Given the description of an element on the screen output the (x, y) to click on. 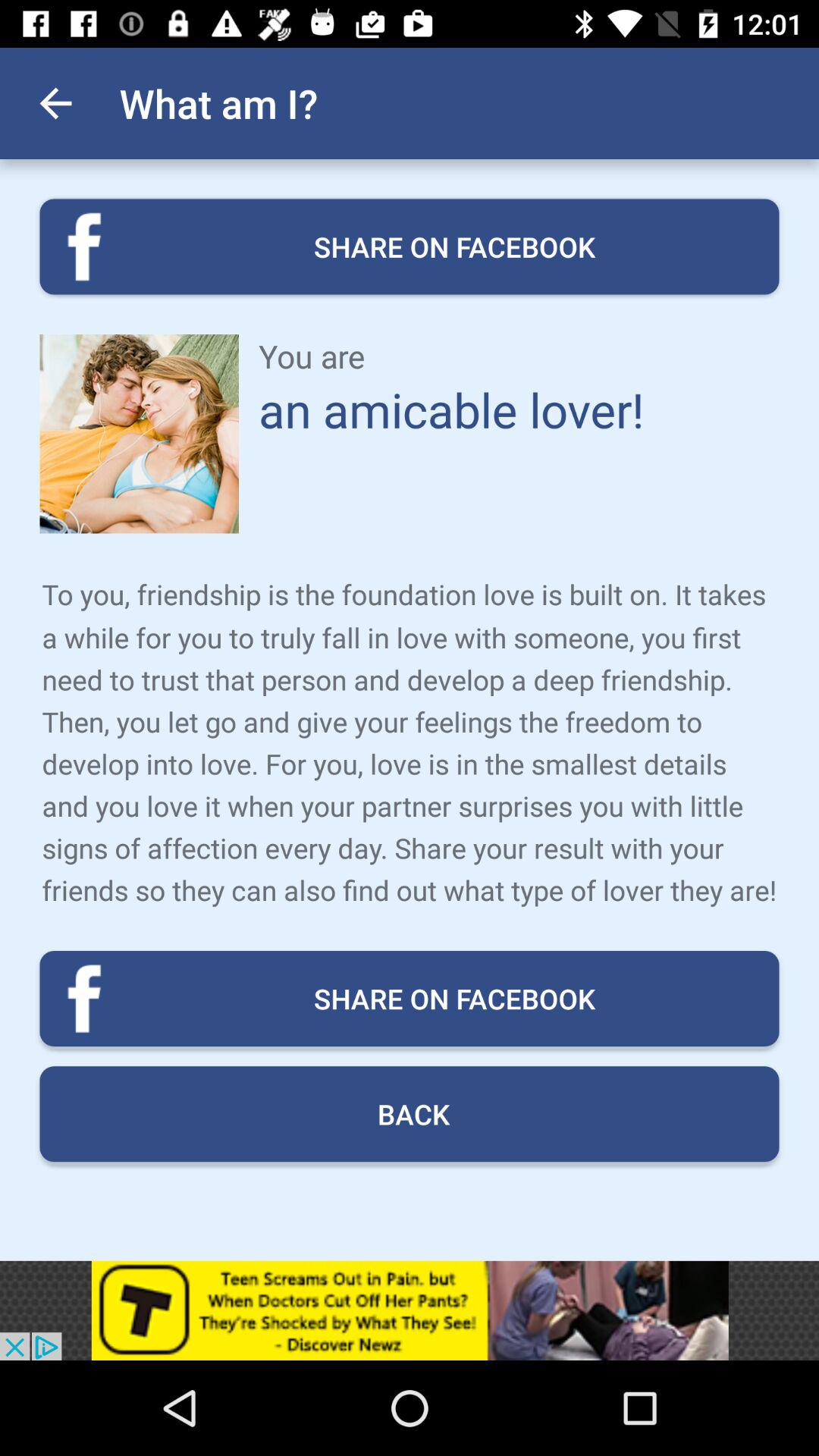
advertise an app (409, 1310)
